Given the description of an element on the screen output the (x, y) to click on. 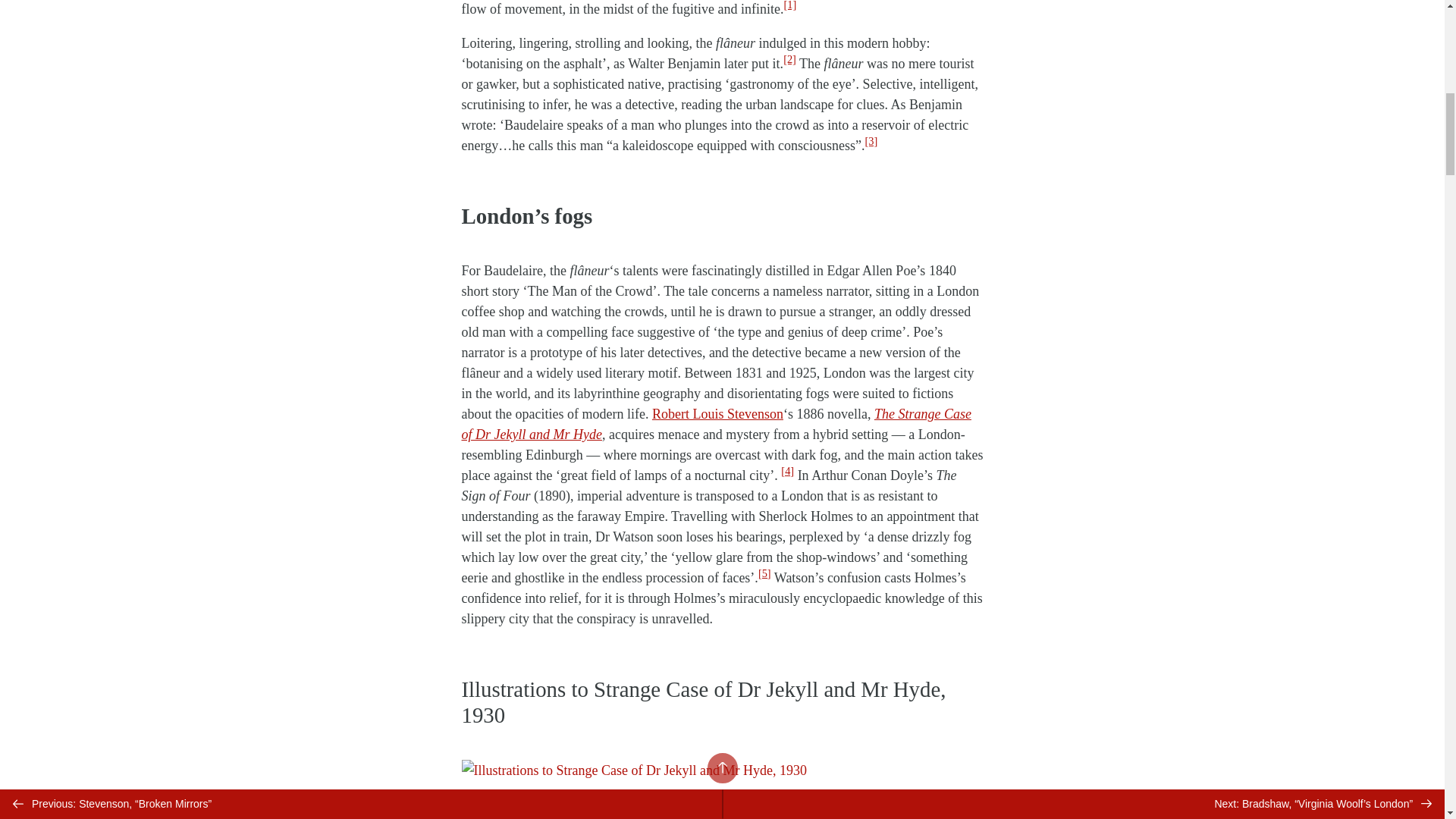
The Strange Case of Dr Jekyll and Mr Hyde (716, 424)
Robert Louis Stevenson (717, 413)
